Given the description of an element on the screen output the (x, y) to click on. 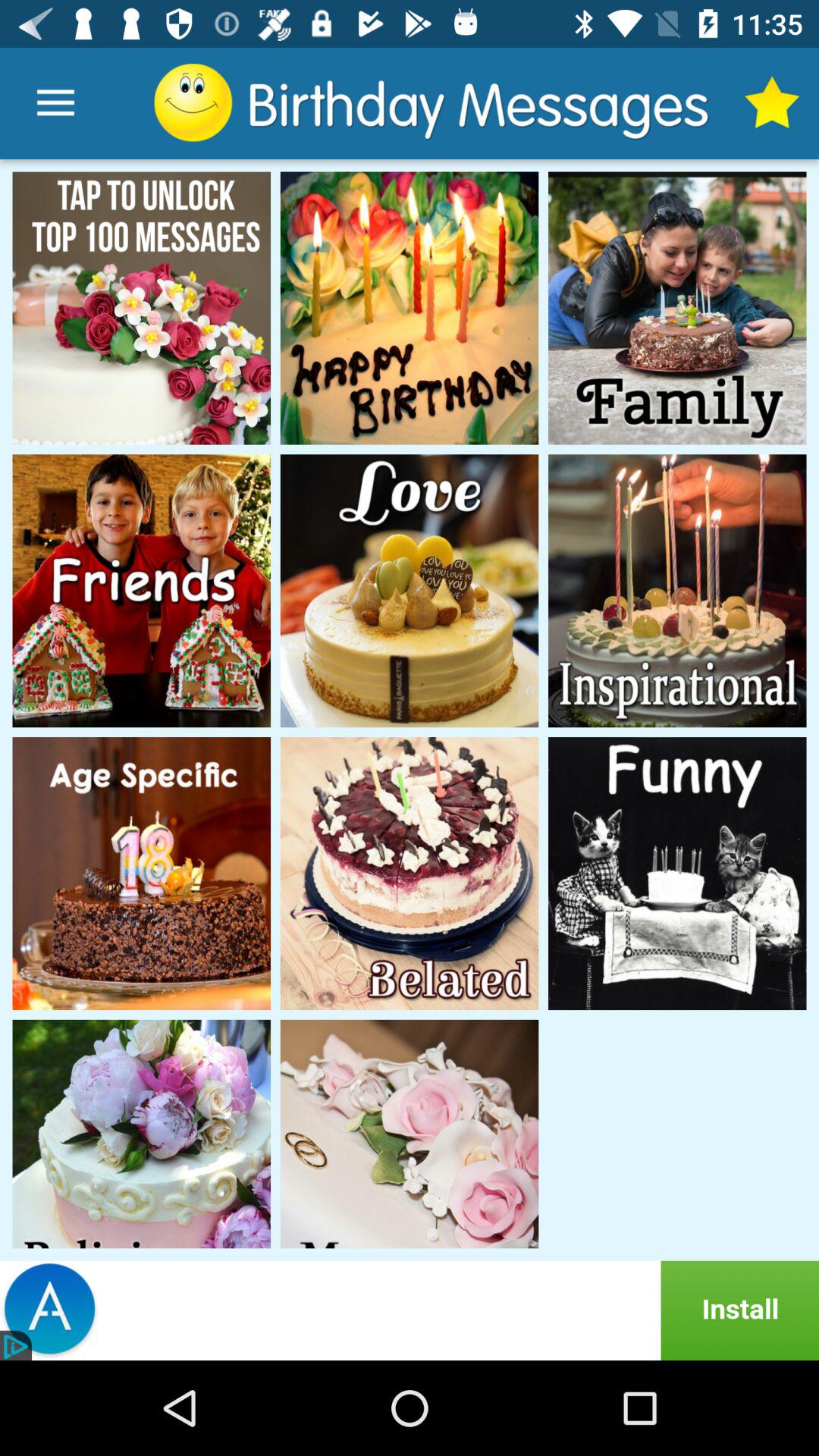
open advertisement installation screen (409, 1310)
